Given the description of an element on the screen output the (x, y) to click on. 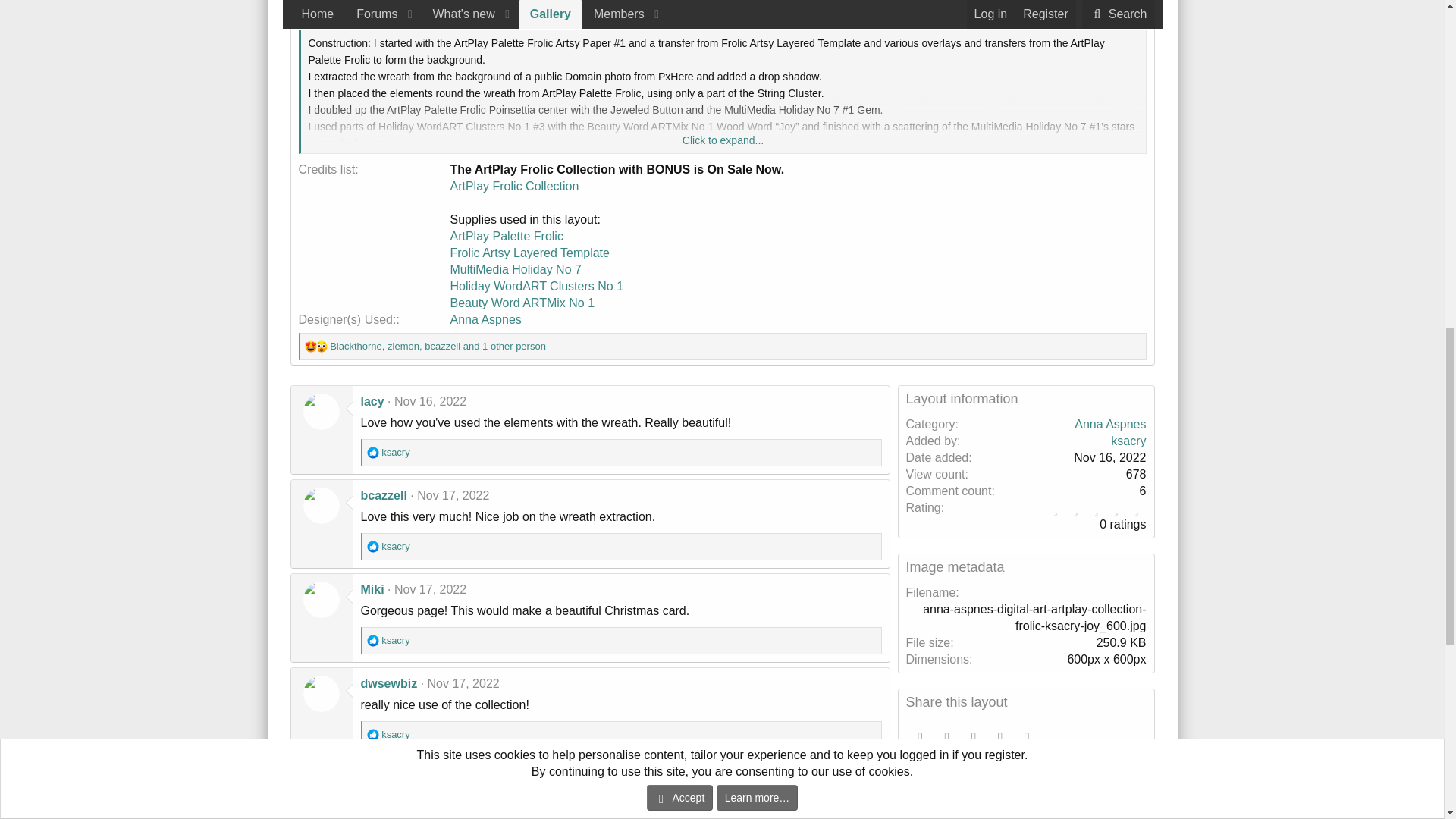
Wow (321, 346)
Love (310, 346)
Nov 17, 2022 at 7:31 AM (452, 495)
Like (372, 452)
Nov 17, 2022 at 10:06 AM (429, 589)
Like (372, 546)
Nov 16, 2022 at 5:05 PM (429, 400)
Nov 17, 2022 at 9:38 PM (445, 777)
Nov 16, 2022 at 11:10 AM (427, 12)
Nov 17, 2022 at 5:48 PM (463, 683)
